Given the description of an element on the screen output the (x, y) to click on. 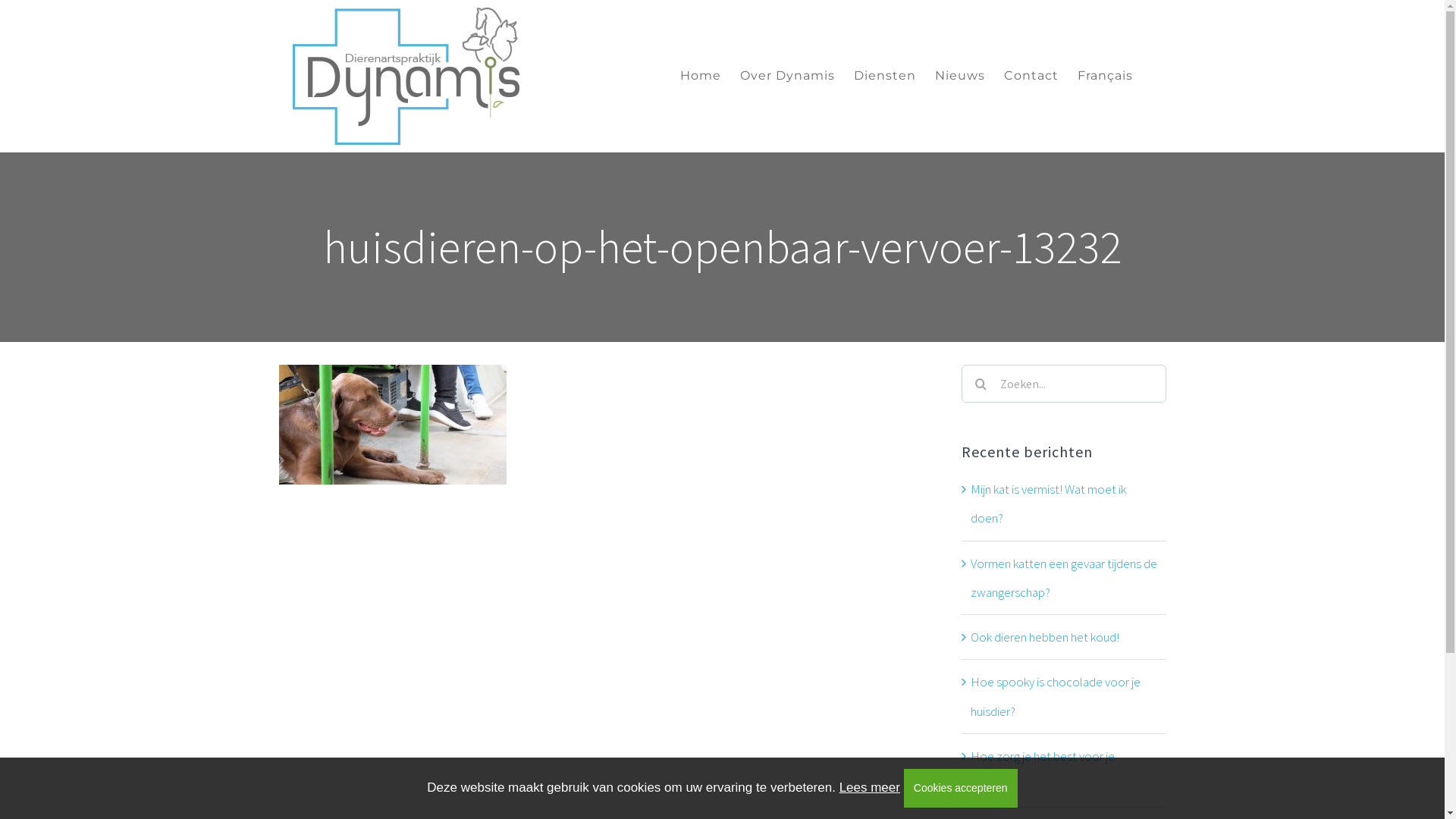
Diensten Element type: text (884, 75)
Contact Element type: text (1031, 75)
Hoe spooky is chocolade voor je huisdier? Element type: text (1055, 695)
Home Element type: text (700, 75)
Cookies accepteren Element type: text (960, 788)
Ook dieren hebben het koud! Element type: text (1044, 636)
Lees meer Element type: text (869, 786)
Mijn kat is vermist! Wat moet ik doen? Element type: text (1048, 503)
Hoe zorg je het best voor je hamster? Element type: text (1042, 770)
Over Dynamis Element type: text (787, 75)
Vormen katten een gevaar tijdens de zwangerschap? Element type: text (1063, 577)
Nieuws Element type: text (960, 75)
